Given the description of an element on the screen output the (x, y) to click on. 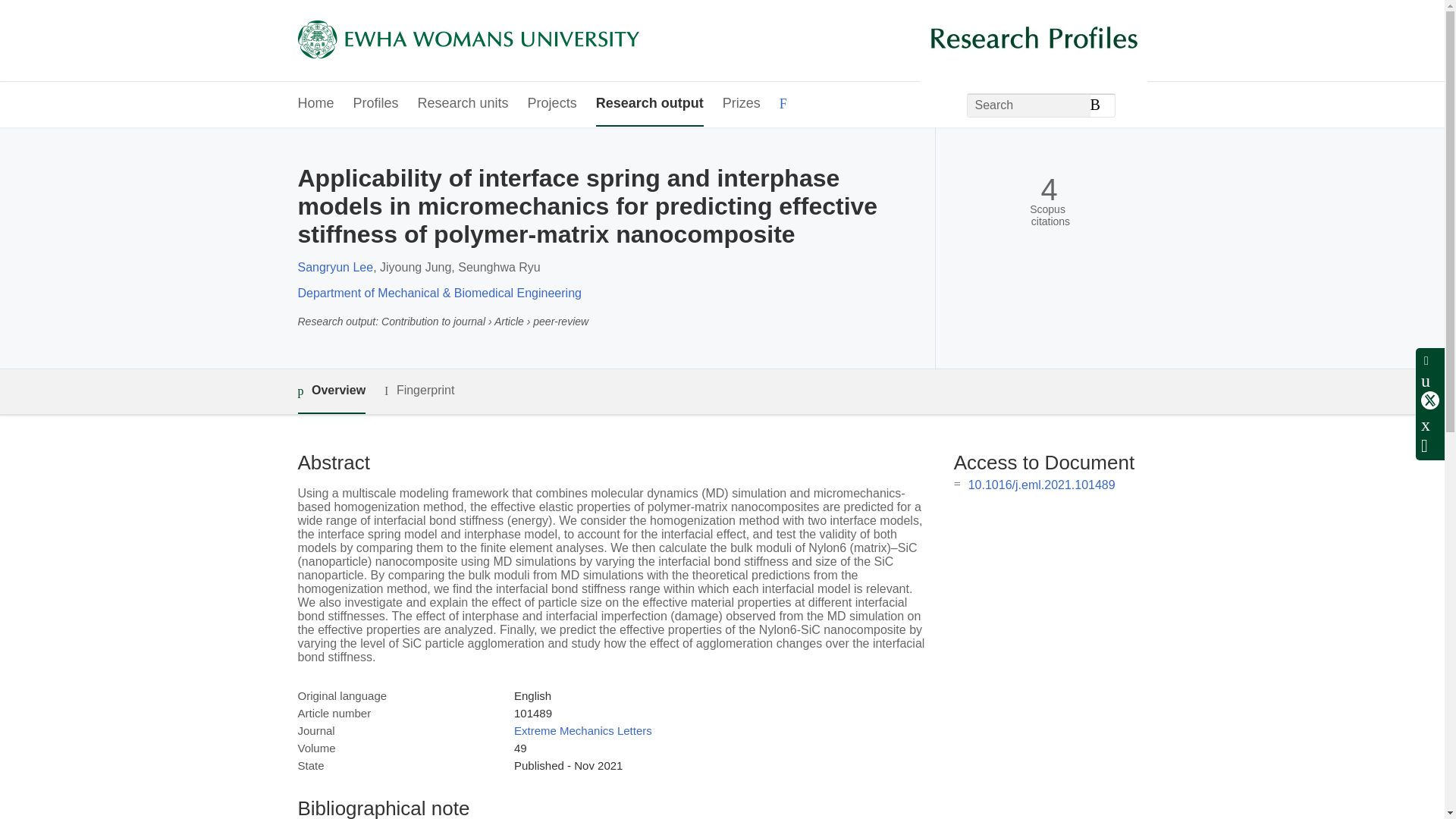
Projects (551, 103)
Research units (462, 103)
Profiles (375, 103)
Research output (649, 103)
Ewha Womans University Home (468, 40)
Extreme Mechanics Letters (582, 730)
Fingerprint (419, 390)
Sangryun Lee (334, 267)
Overview (331, 391)
